Given the description of an element on the screen output the (x, y) to click on. 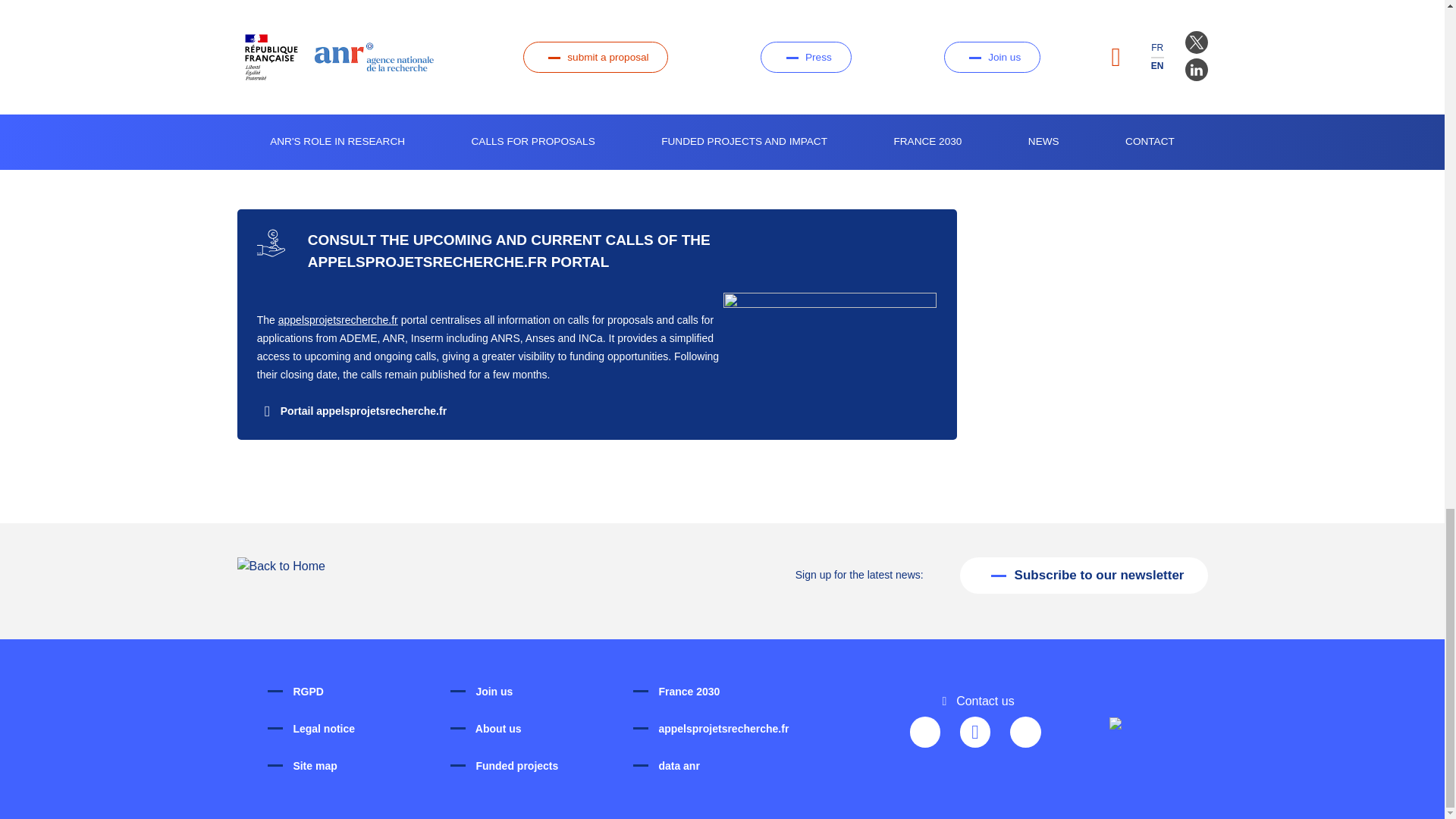
RSS Feeds (1025, 731)
ANR on LinkedIn (975, 731)
Lien vers un site externe (351, 410)
